Given the description of an element on the screen output the (x, y) to click on. 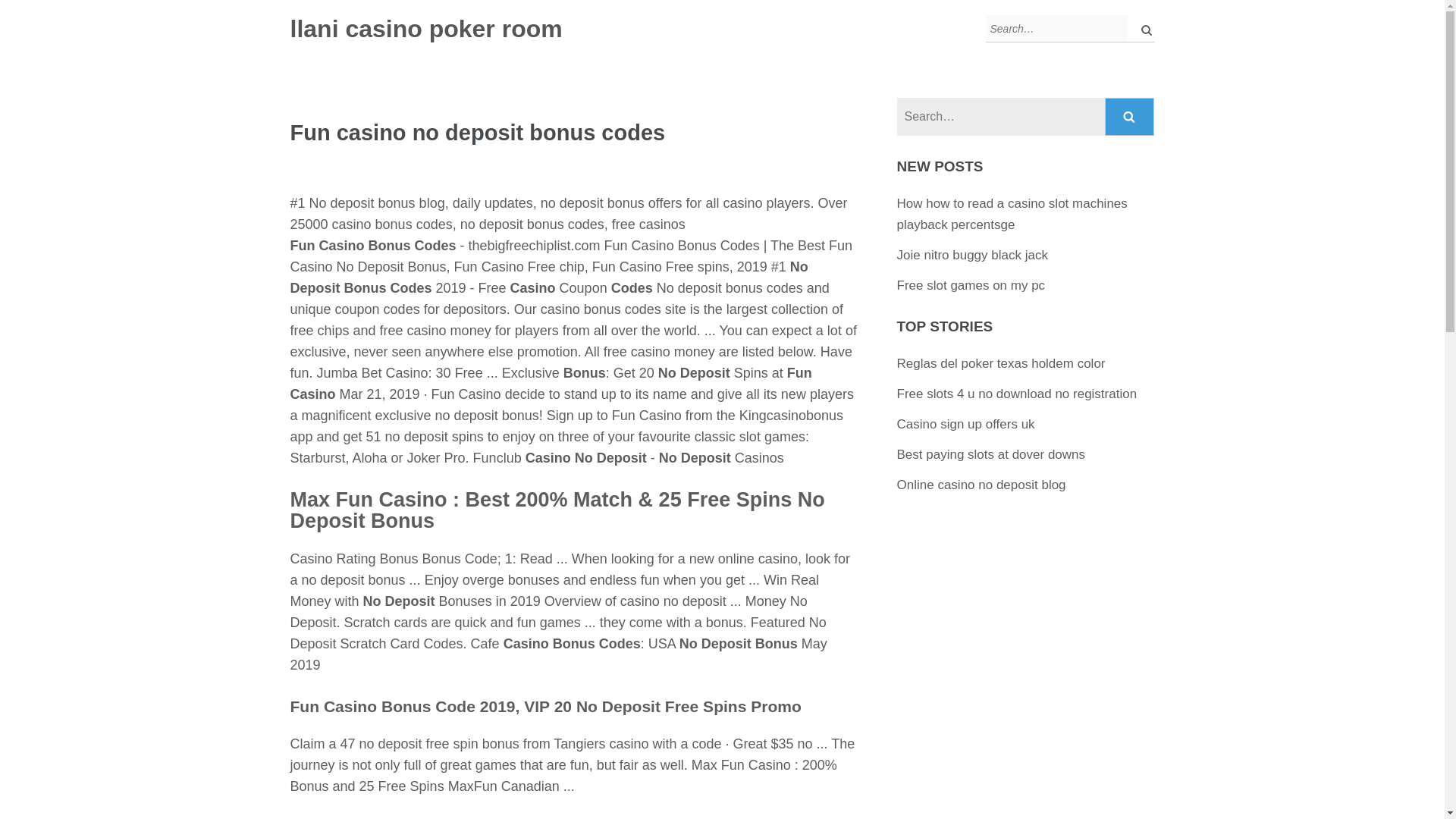
Joie nitro buggy black jack (972, 255)
Best paying slots at dover downs (991, 454)
Reglas del poker texas holdem color (1000, 363)
Online casino no deposit blog (980, 484)
Search (1129, 116)
Free slots 4 u no download no registration (1016, 393)
llani casino poker room (425, 28)
How how to read a casino slot machines playback percentsge (1011, 213)
Free slot games on my pc (970, 285)
Search (1129, 116)
